Given the description of an element on the screen output the (x, y) to click on. 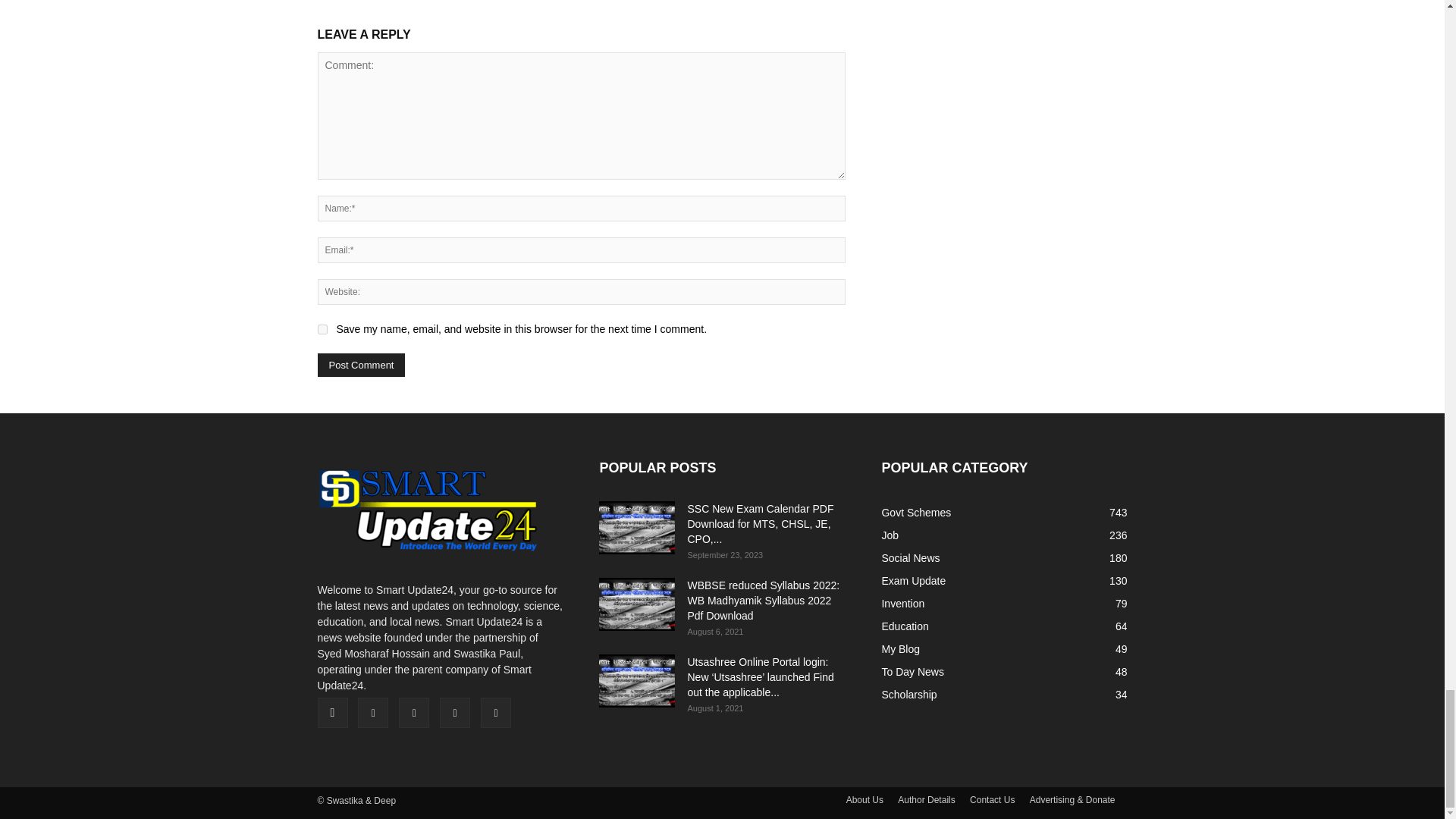
Post Comment (360, 364)
yes (321, 329)
